Given the description of an element on the screen output the (x, y) to click on. 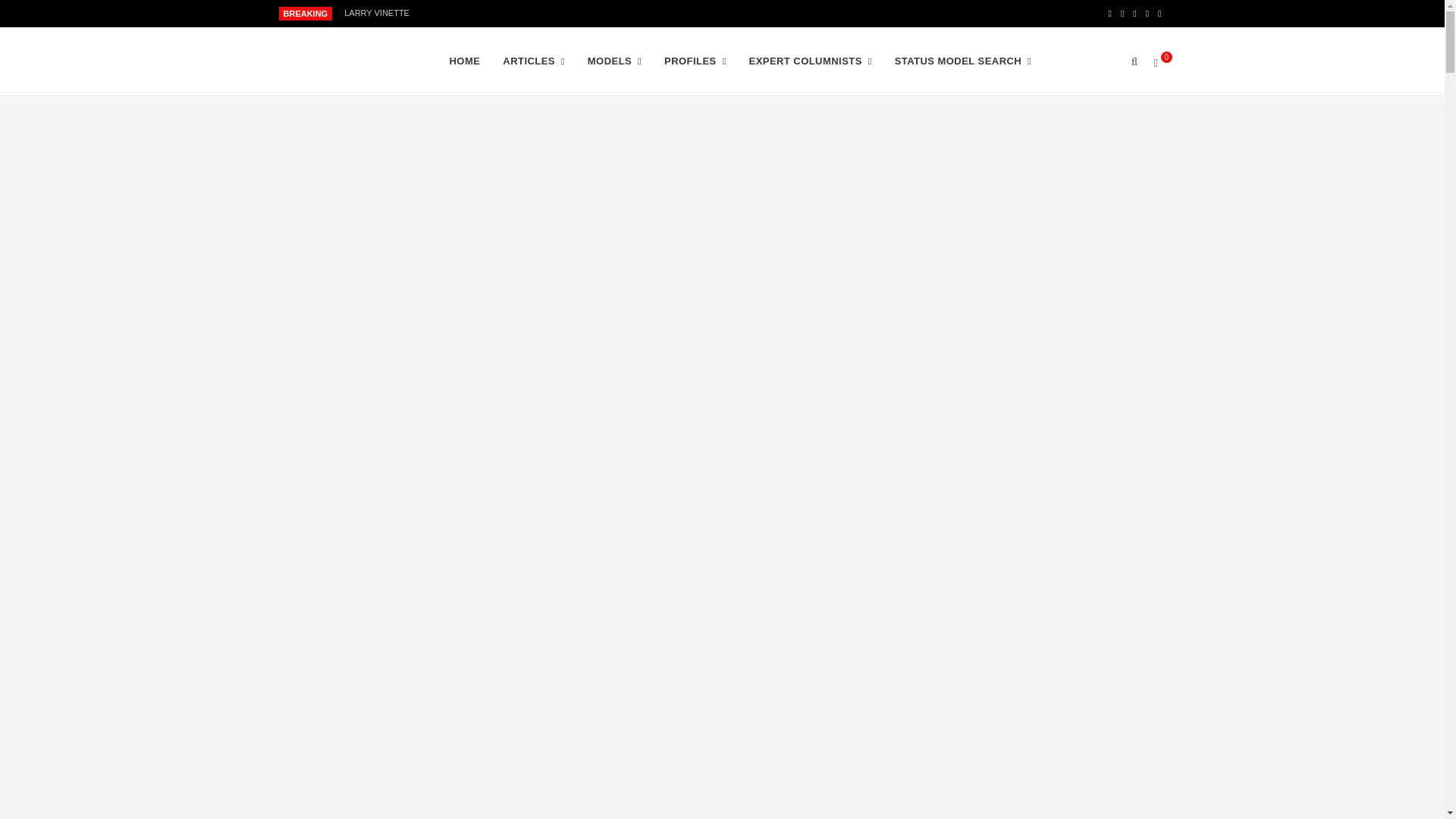
ARTICLES (533, 61)
LARRY VINETTE (379, 12)
LARRY VINETTE (379, 12)
